Given the description of an element on the screen output the (x, y) to click on. 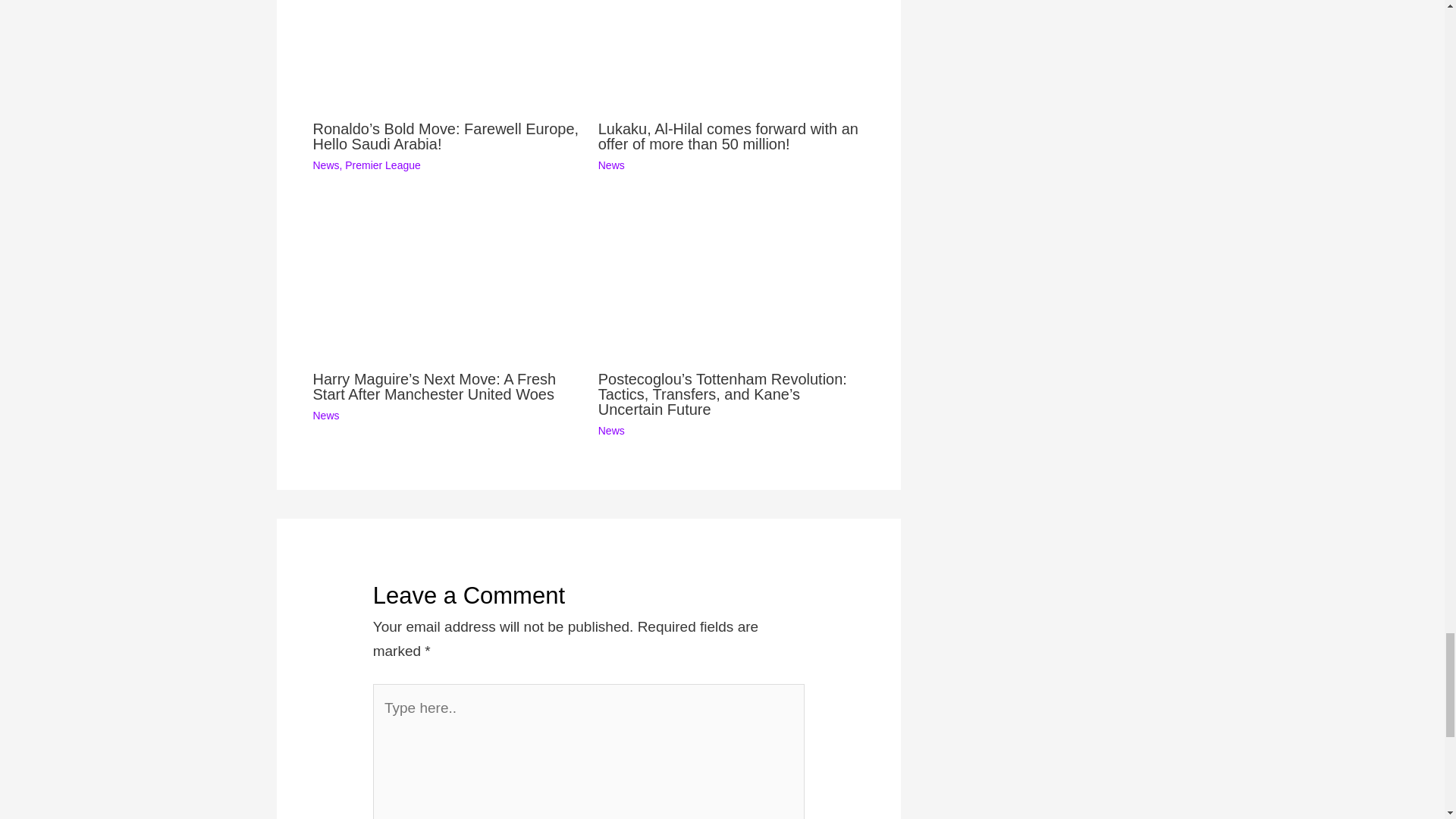
News (326, 415)
News (611, 164)
News (326, 164)
News (611, 430)
Premier League (382, 164)
